Given the description of an element on the screen output the (x, y) to click on. 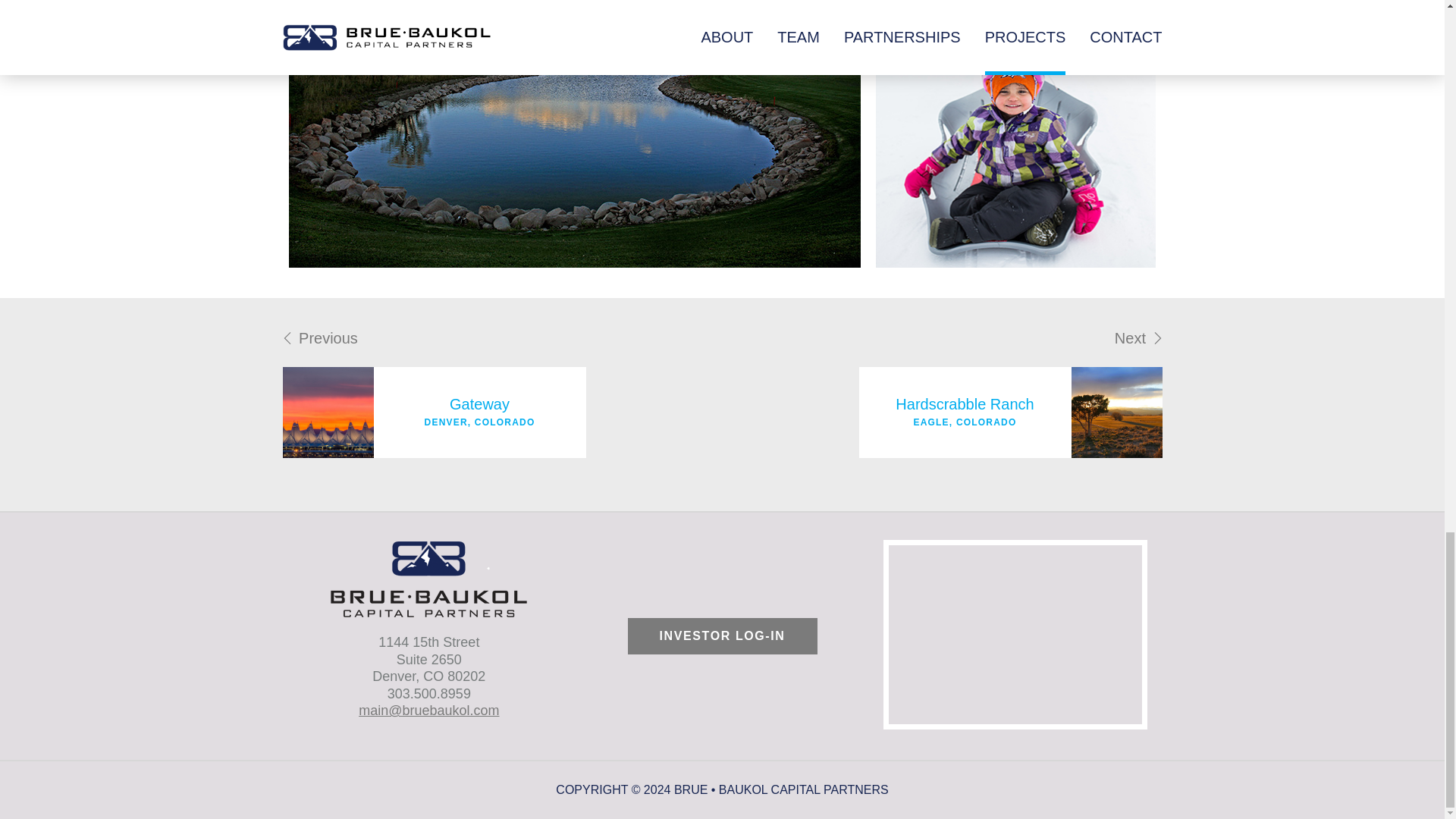
INVESTOR LOG-IN (433, 391)
